Given the description of an element on the screen output the (x, y) to click on. 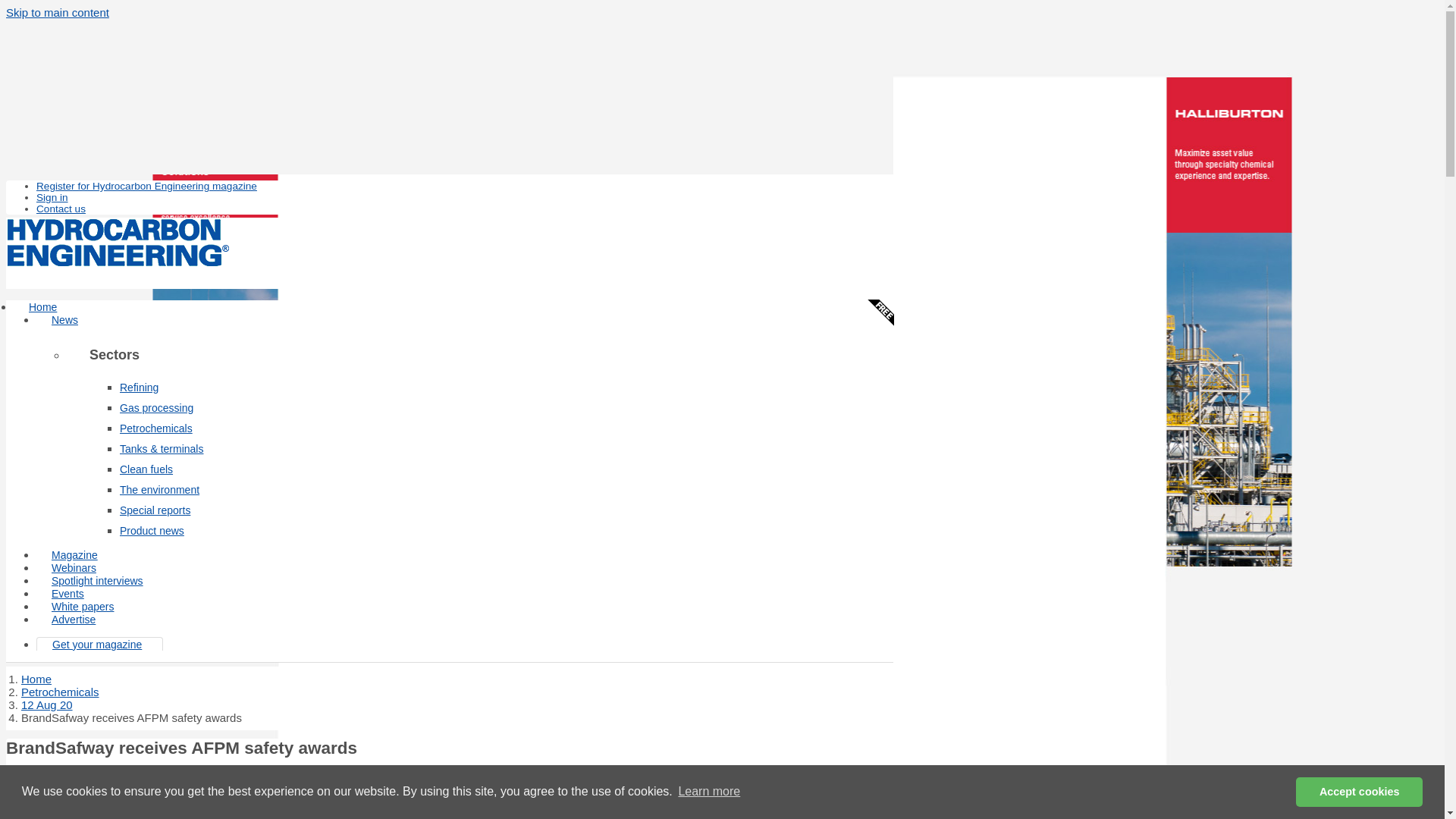
Register for your magazine (146, 185)
Save to read list (47, 779)
Gas processing (156, 408)
Contact us (60, 208)
Petrochemicals (60, 691)
Sign in (52, 197)
Sign in (52, 197)
Special reports (154, 510)
Learn more (708, 791)
3rd party ad content (449, 56)
Clean fuels (146, 469)
Home (35, 678)
Product news (151, 530)
3rd party ad content (449, 140)
News (64, 319)
